Given the description of an element on the screen output the (x, y) to click on. 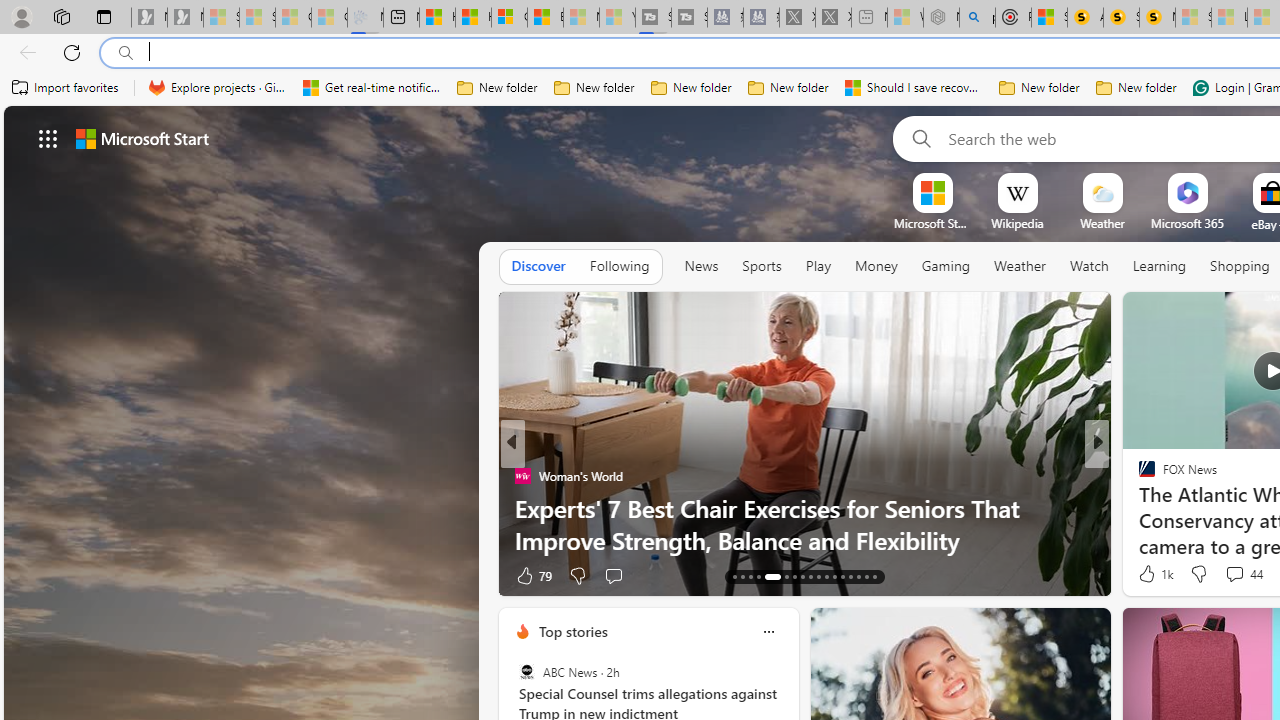
To get missing image descriptions, open the context menu. (932, 192)
AutomationID: tab-25 (842, 576)
128 Like (1151, 574)
View comments 5 Comment (1234, 574)
New folder (1136, 88)
Wikipedia (1017, 223)
Watch (1089, 265)
AutomationID: tab-18 (782, 576)
View comments 2 Comment (1234, 574)
Play (818, 267)
Learning (1159, 267)
View comments 2 Comment (1229, 575)
Weather (1020, 265)
View comments 1 Comment (1234, 575)
